Given the description of an element on the screen output the (x, y) to click on. 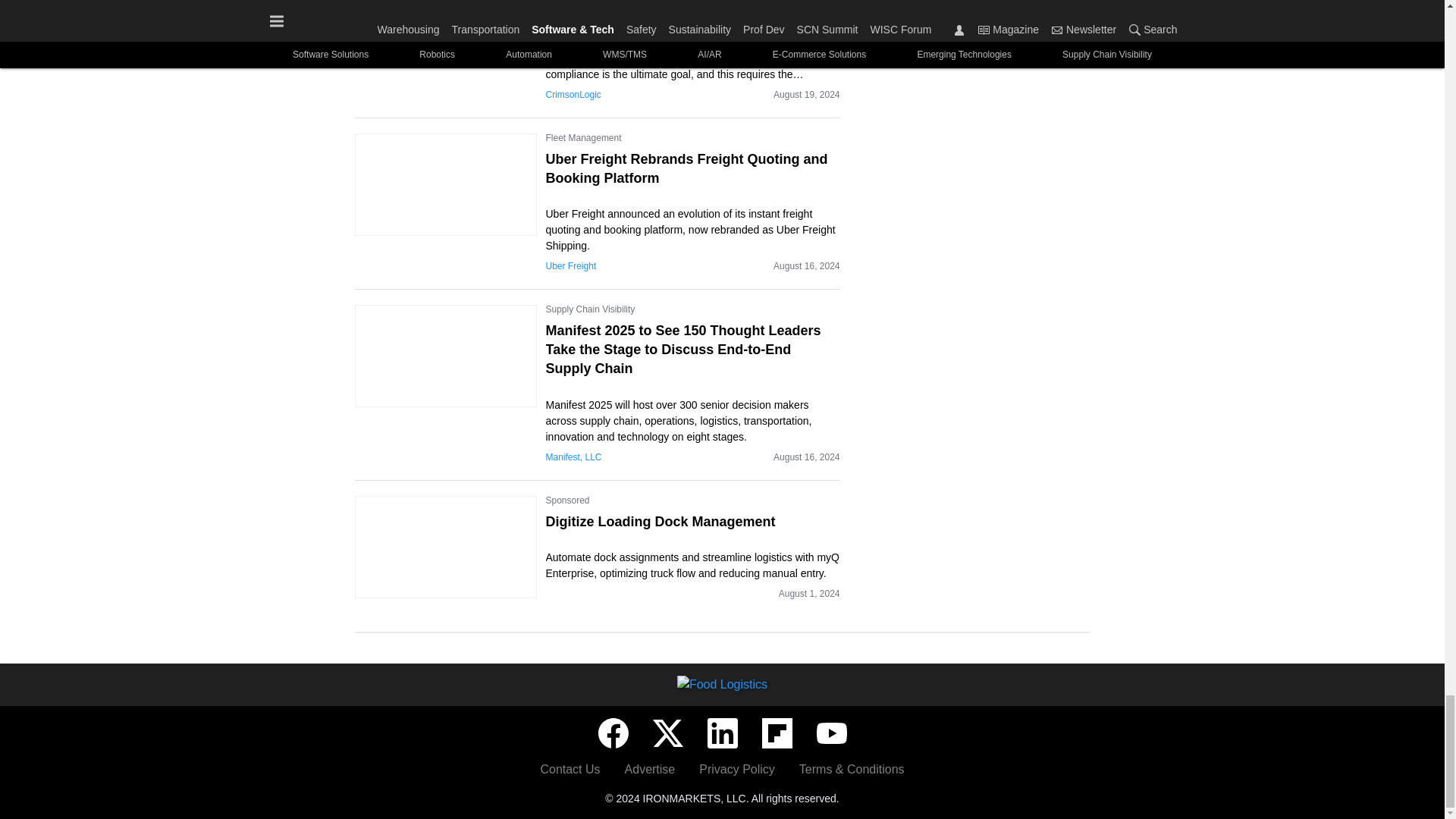
LinkedIn icon (721, 733)
YouTube icon (830, 733)
Twitter X icon (667, 733)
Flipboard icon (776, 733)
Facebook icon (611, 733)
